Given the description of an element on the screen output the (x, y) to click on. 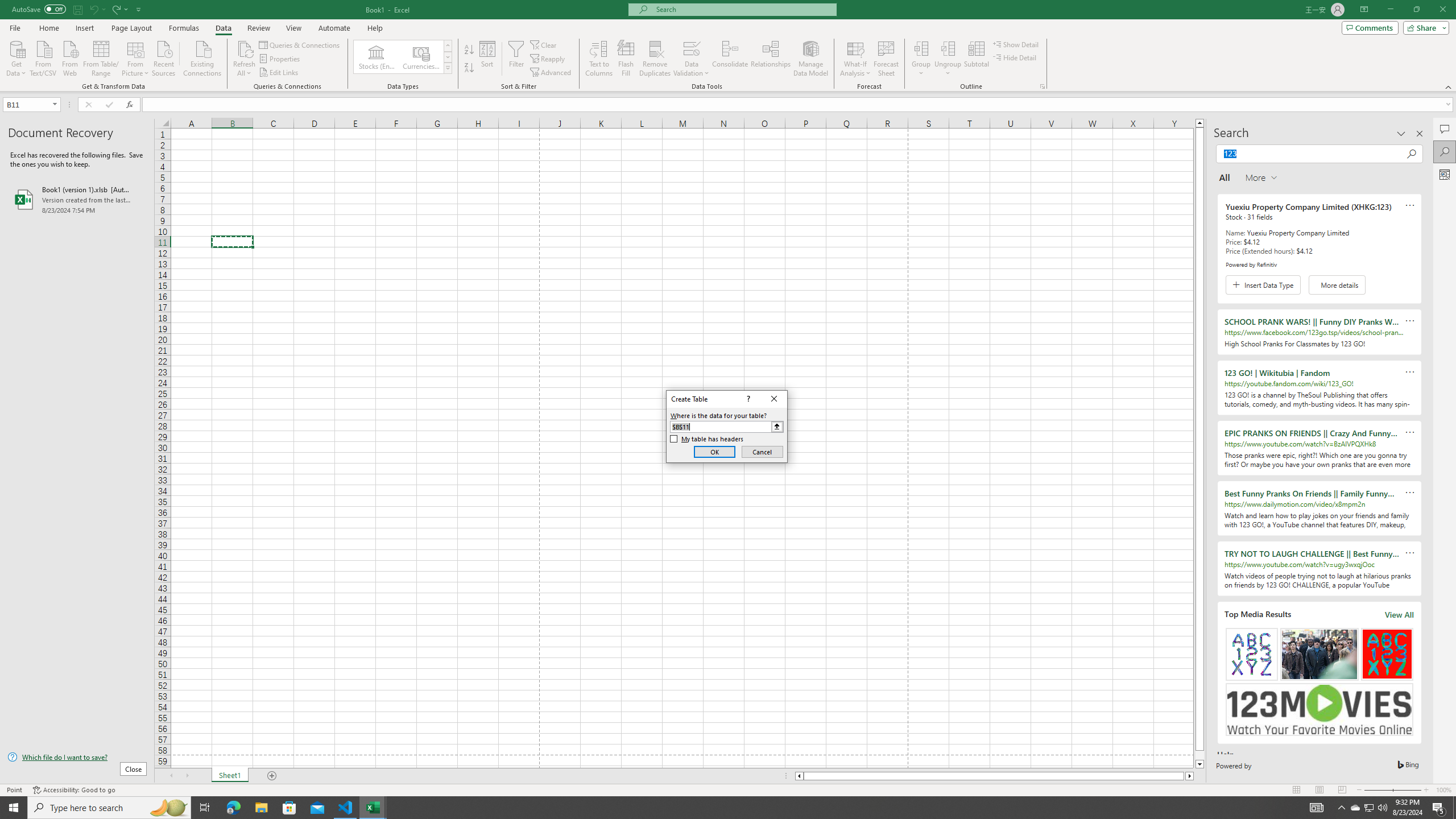
Visual Studio Code - 1 running window (345, 807)
Row up (448, 45)
Sort Z to A (469, 67)
Task Pane Options (1400, 133)
Sort... (487, 58)
Advanced... (551, 72)
File Explorer (261, 807)
AutomationID: ConvertToLinkedEntity (403, 56)
Excel - 2 running windows (373, 807)
Group... (921, 48)
AutomationID: 4105 (1316, 807)
